Given the description of an element on the screen output the (x, y) to click on. 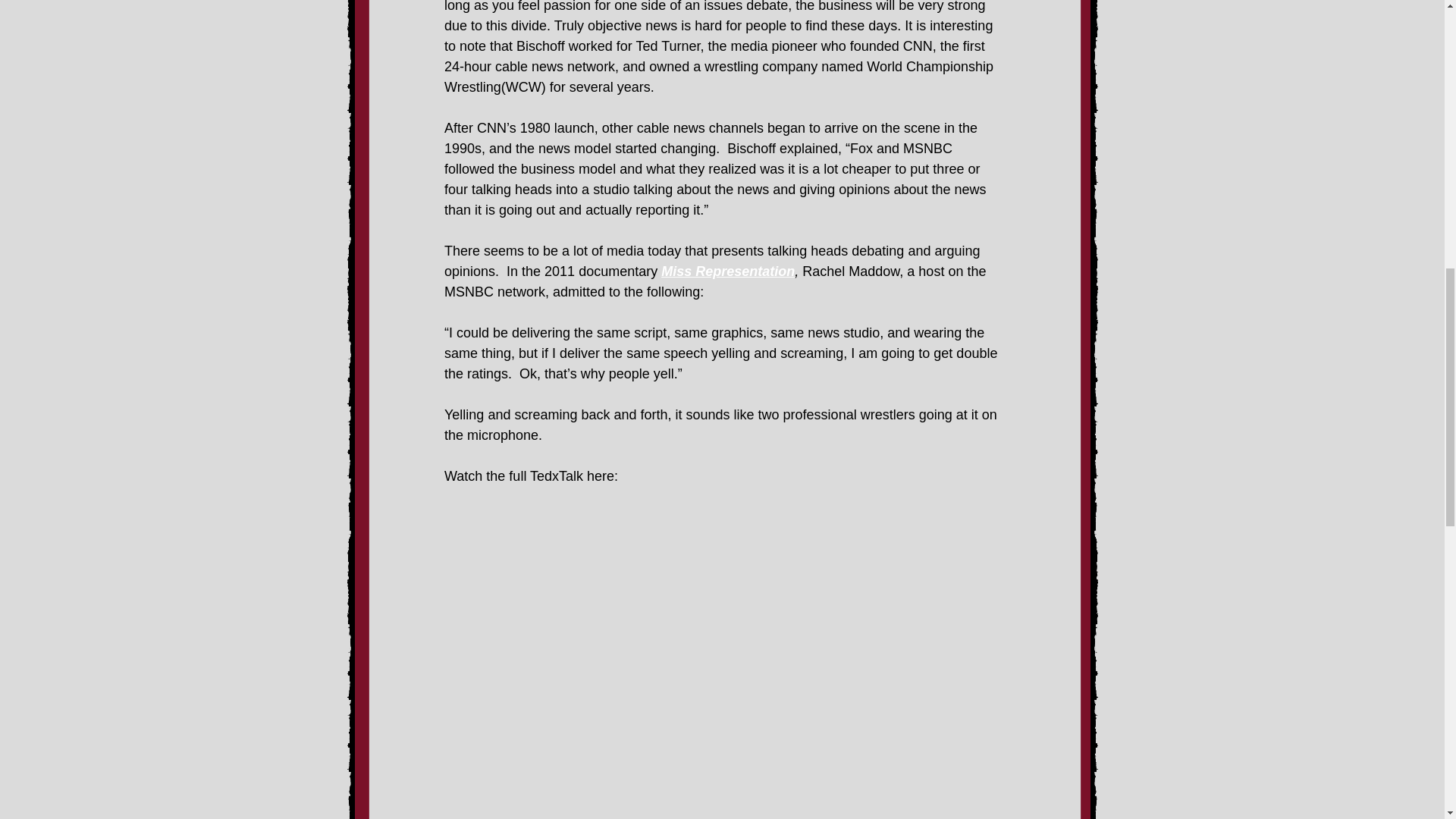
ricos-video (725, 565)
Miss Representation (727, 271)
